Given the description of an element on the screen output the (x, y) to click on. 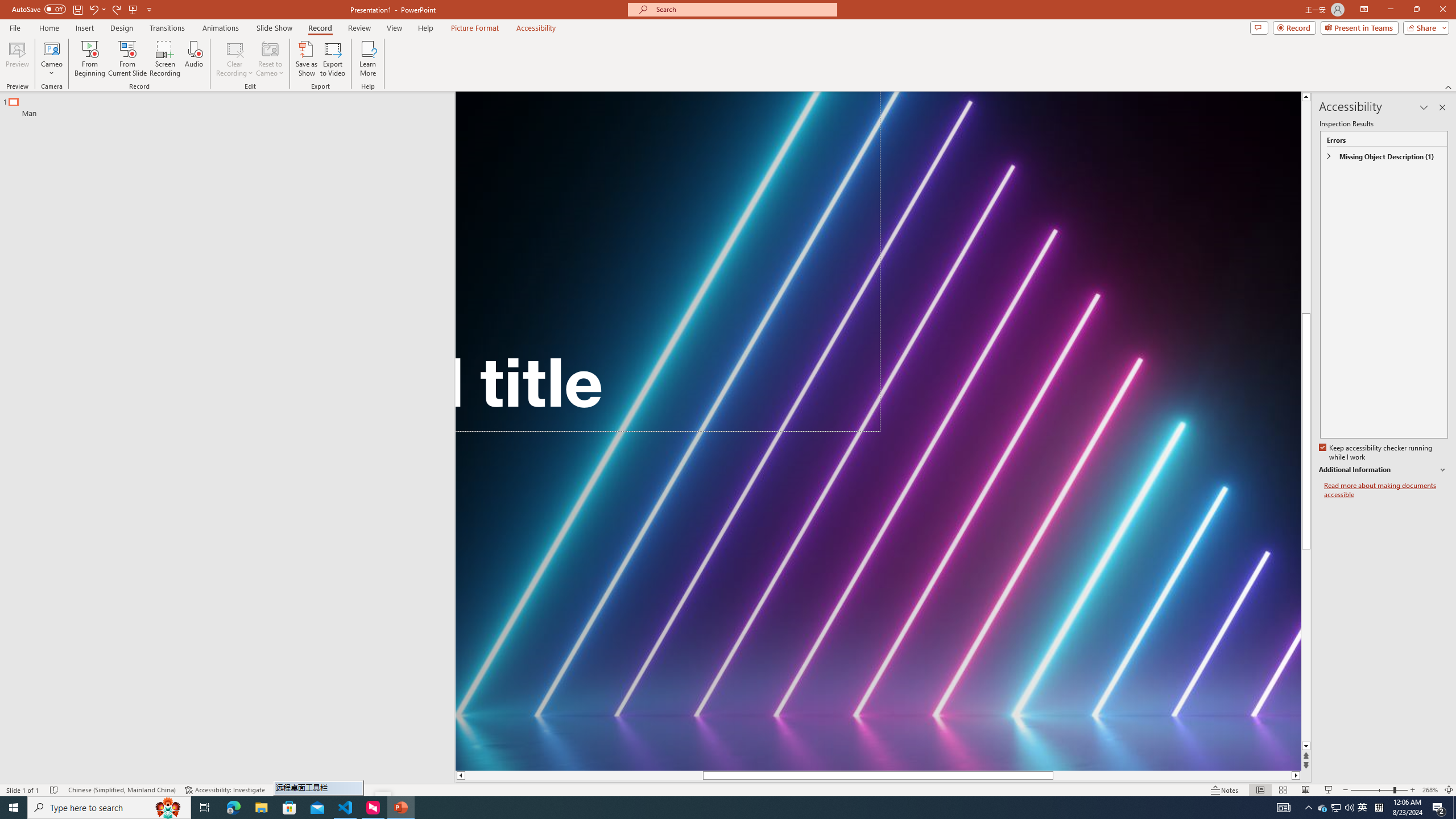
Ribbon Display Options (1364, 9)
From Beginning (133, 9)
Comments (1259, 27)
Present in Teams (1359, 27)
Preview (17, 58)
Save (77, 9)
Help (425, 28)
Additional Information (1383, 469)
Normal (1260, 790)
Transitions (167, 28)
Close (1442, 9)
Zoom 268% (1430, 790)
Picture Format (475, 28)
